Given the description of an element on the screen output the (x, y) to click on. 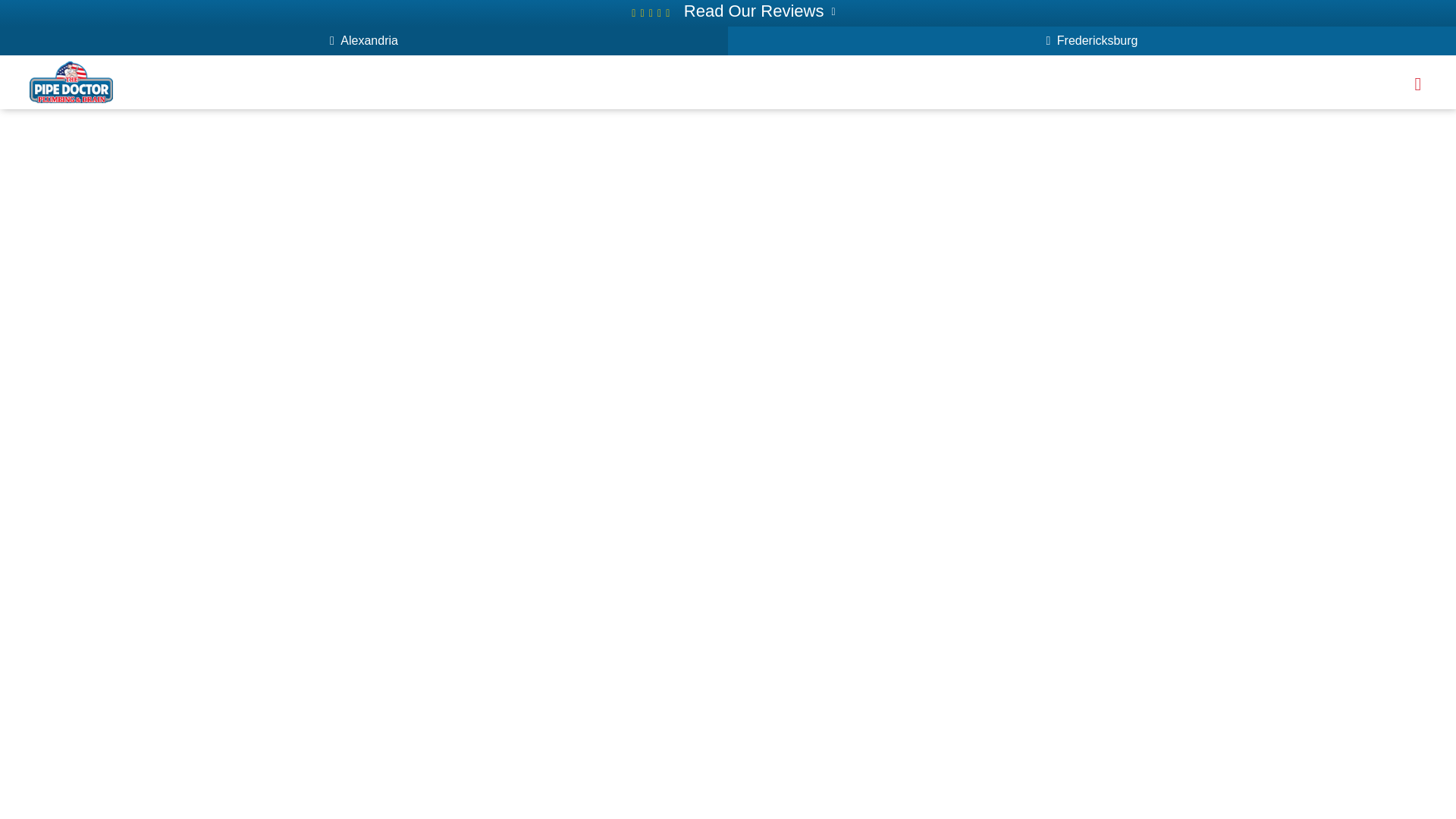
  Read Our Reviews (755, 10)
